Given the description of an element on the screen output the (x, y) to click on. 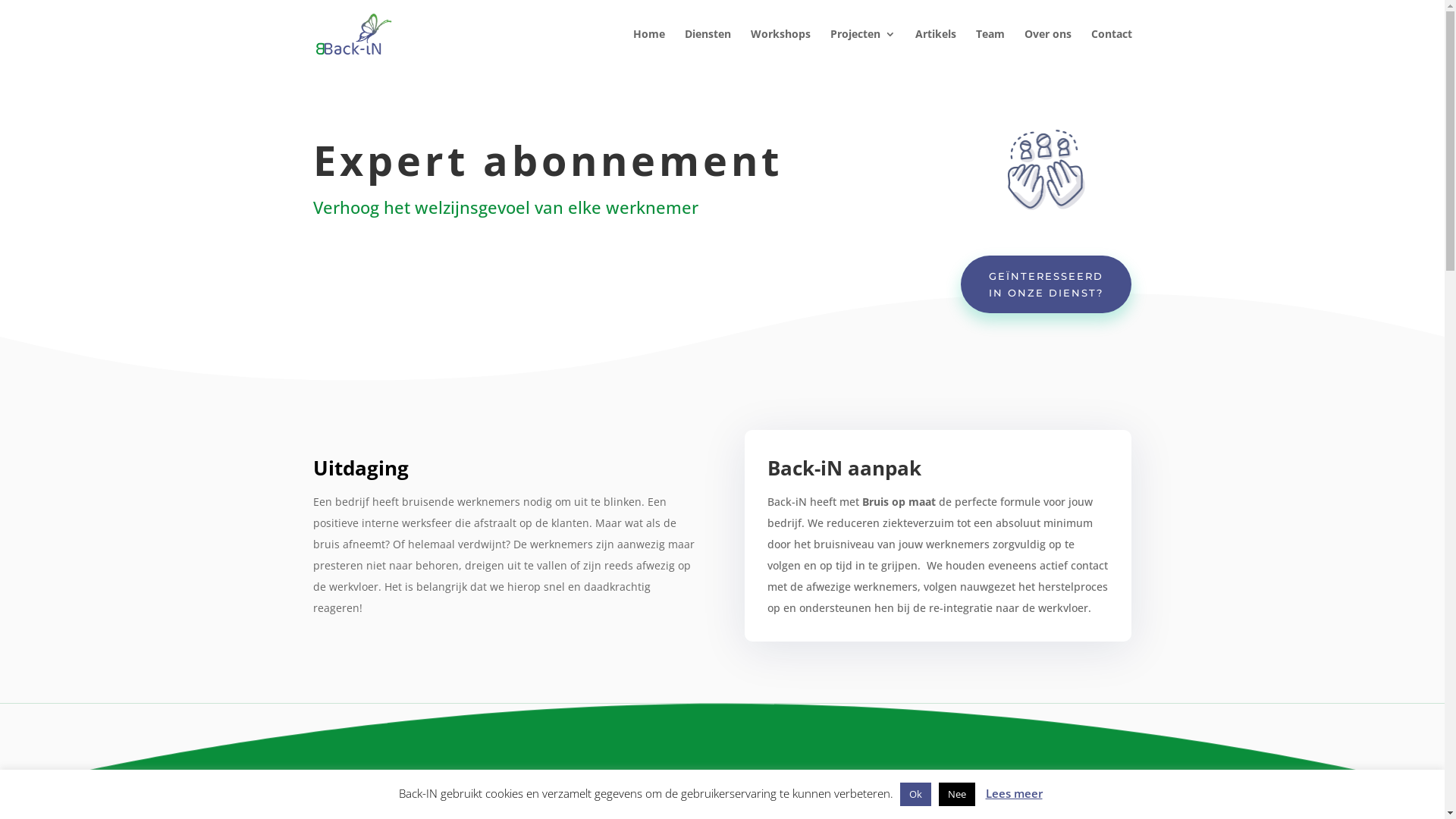
Home Element type: text (648, 48)
Workshops Element type: text (780, 48)
Contact Element type: text (1110, 48)
Lees meer Element type: text (1013, 792)
Ok Element type: text (914, 794)
Team Element type: text (989, 48)
Diensten Element type: text (707, 48)
Projecten Element type: text (861, 48)
Artikels Element type: text (934, 48)
Nee Element type: text (956, 794)
Over ons Element type: text (1046, 48)
